Given the description of an element on the screen output the (x, y) to click on. 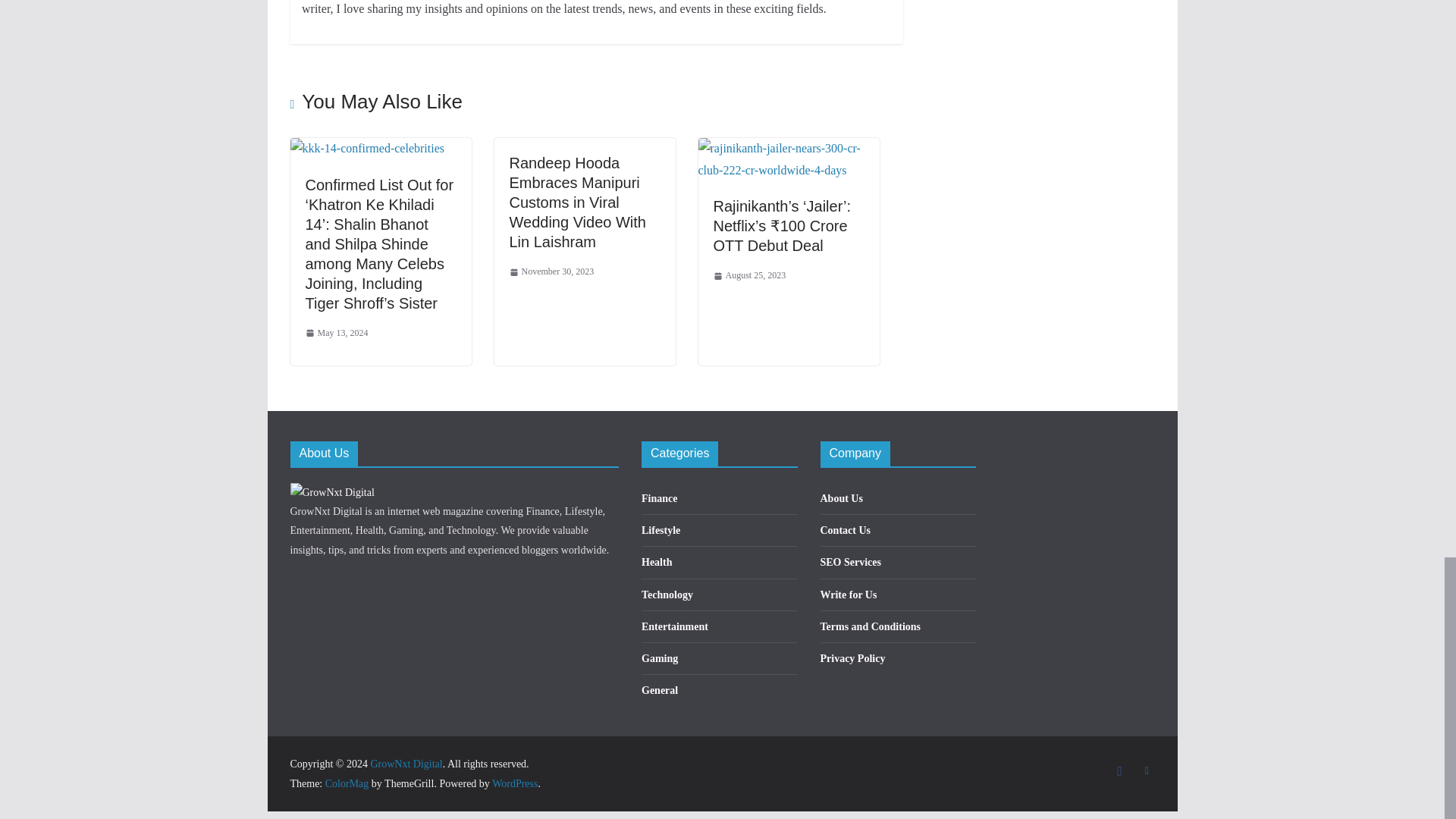
3:30 pm (336, 333)
3:48 pm (551, 271)
